Given the description of an element on the screen output the (x, y) to click on. 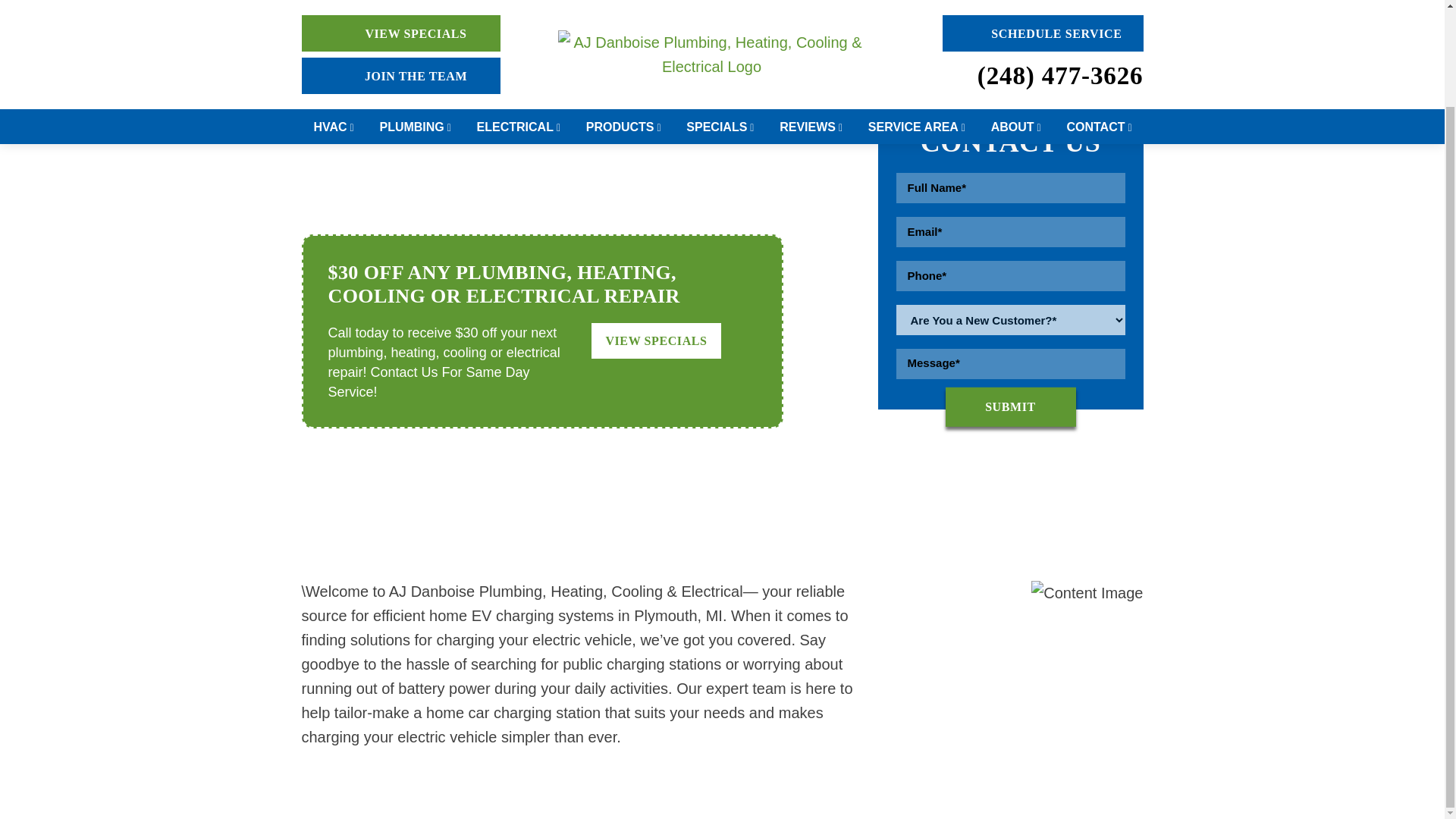
Submit (1009, 406)
HVAC (334, 16)
SPECIALS (720, 16)
ELECTRICAL (518, 16)
PRODUCTS (624, 16)
PLUMBING (415, 16)
